Given the description of an element on the screen output the (x, y) to click on. 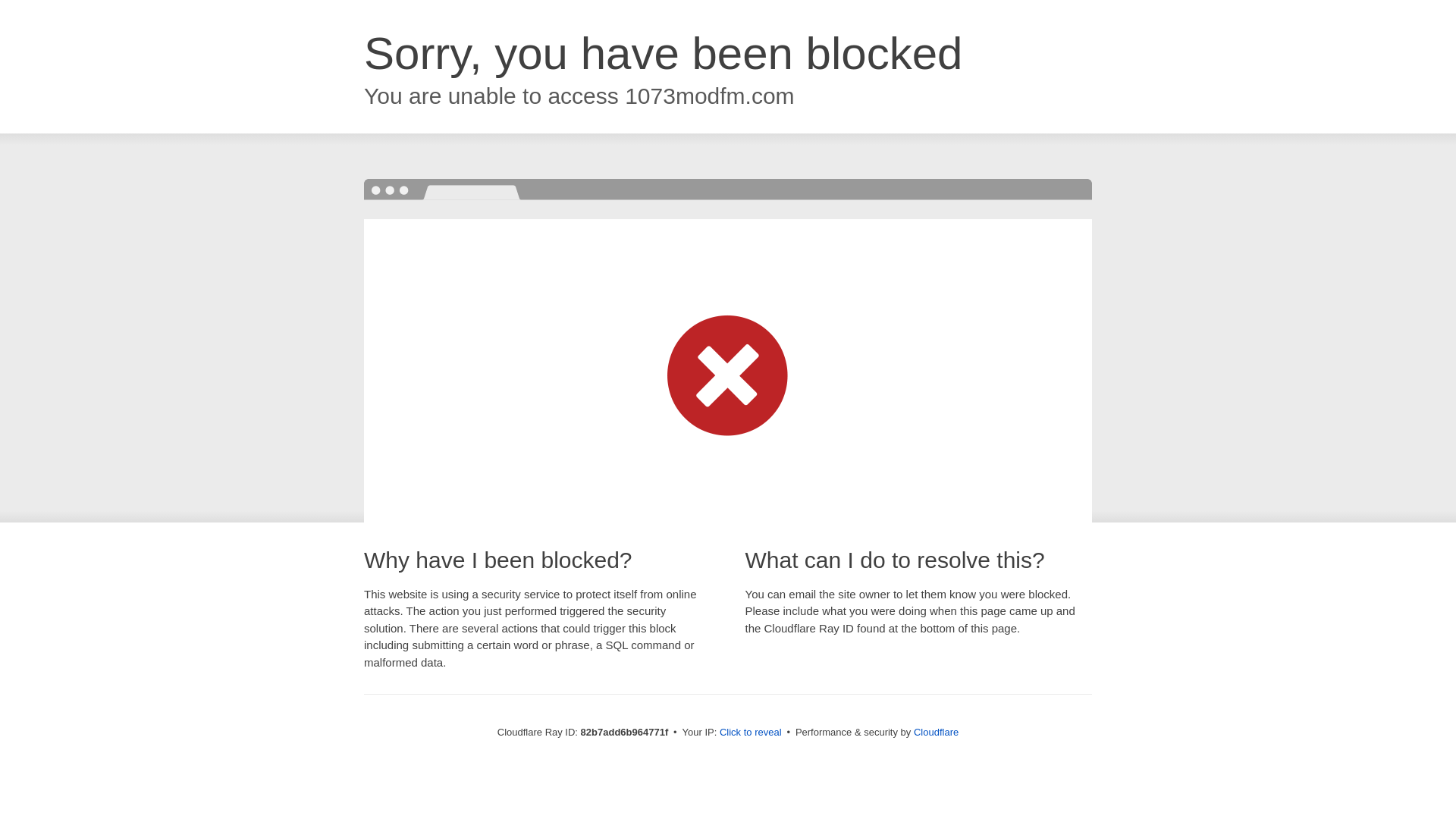
Cloudflare Element type: text (935, 731)
Click to reveal Element type: text (750, 732)
